Given the description of an element on the screen output the (x, y) to click on. 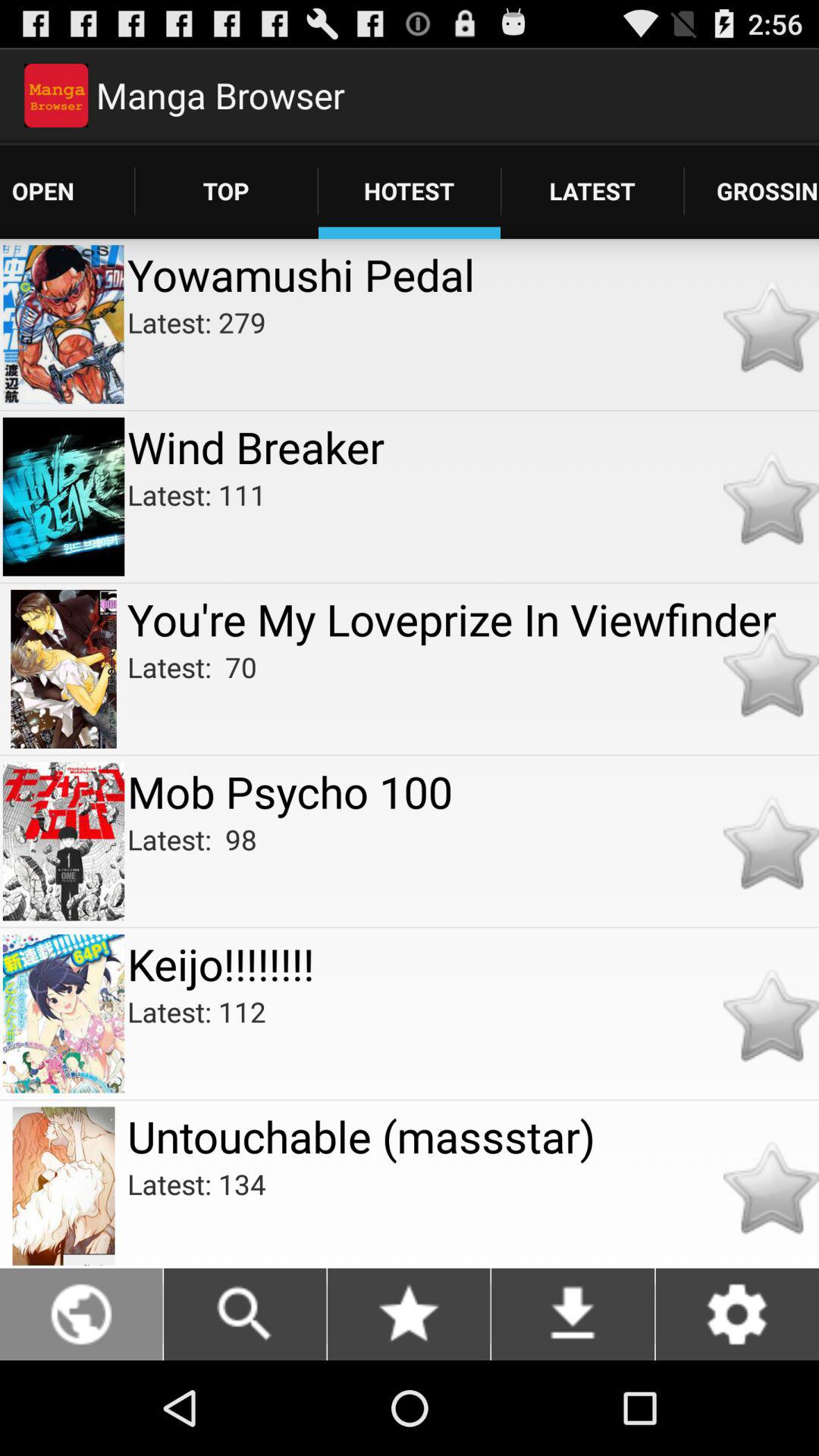
turn on the untouchable (massstar) item (473, 1135)
